Given the description of an element on the screen output the (x, y) to click on. 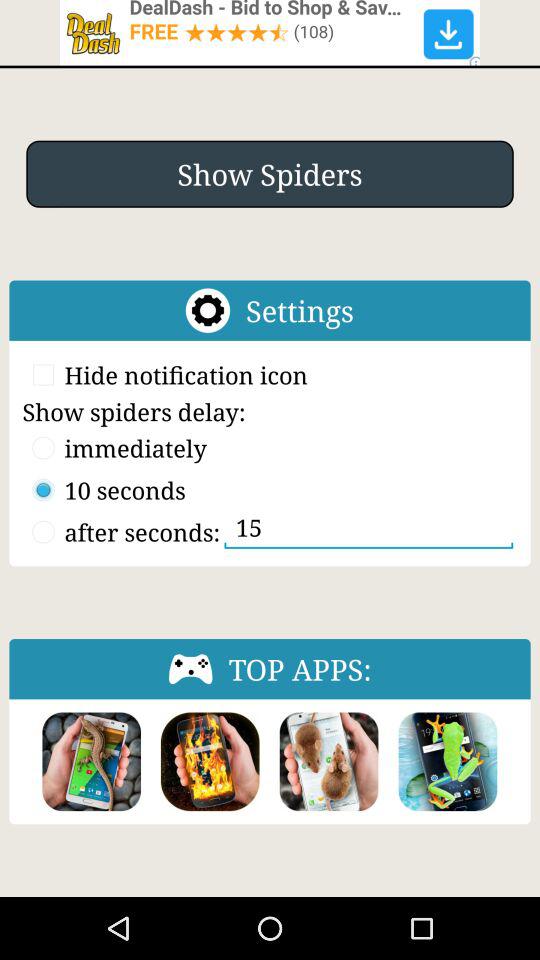
redirect the user to a website (270, 32)
